Given the description of an element on the screen output the (x, y) to click on. 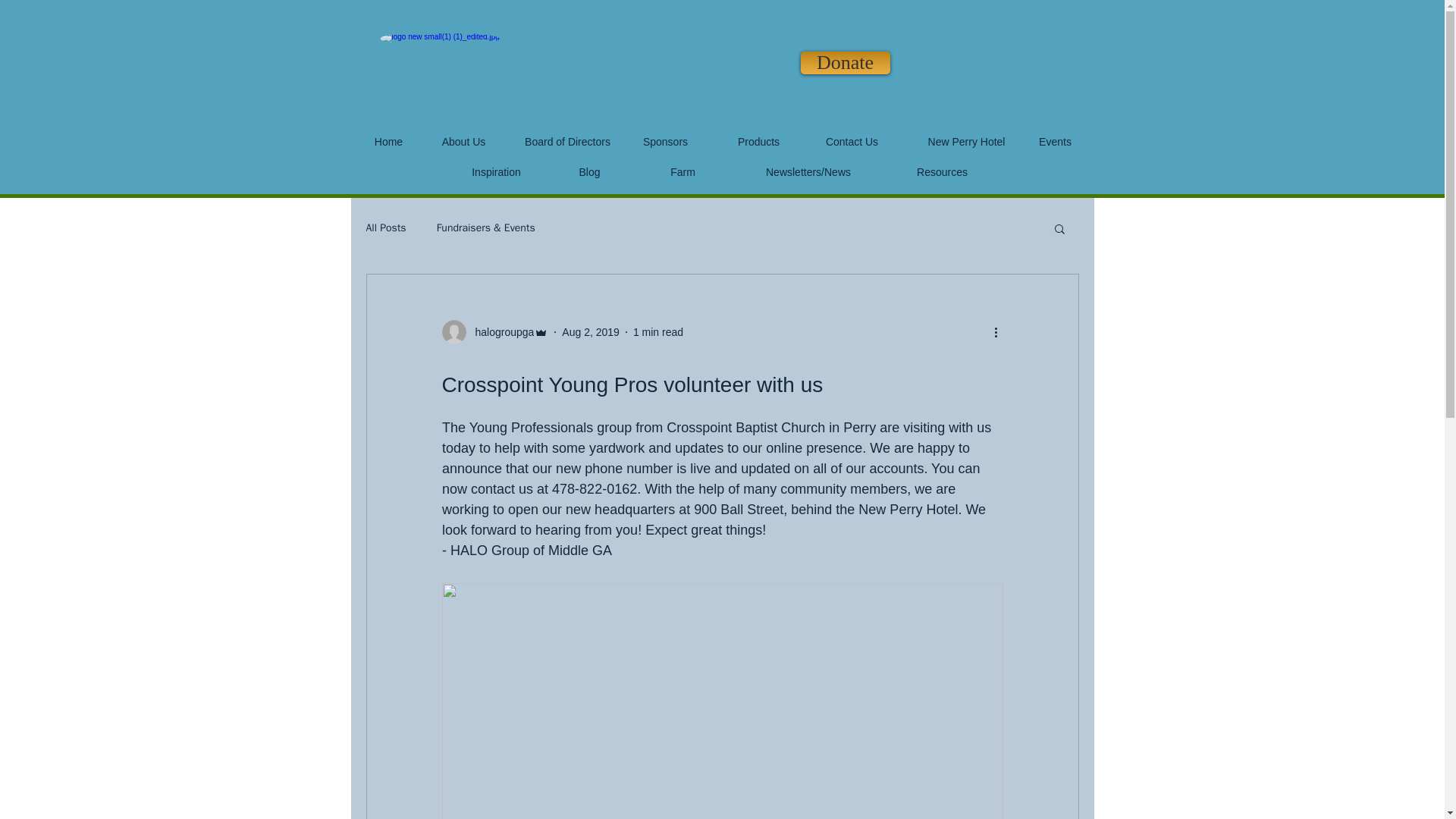
Inspiration (496, 173)
New Perry Hotel (966, 142)
Blog (589, 172)
Events (1055, 142)
Aug 2, 2019 (591, 331)
Resources (941, 173)
All Posts (385, 228)
Board of Directors (567, 141)
Donate (844, 62)
Home (388, 142)
Farm (682, 172)
1 min read (657, 331)
Sponsors (665, 142)
About Us (464, 142)
Contact Us (851, 142)
